Given the description of an element on the screen output the (x, y) to click on. 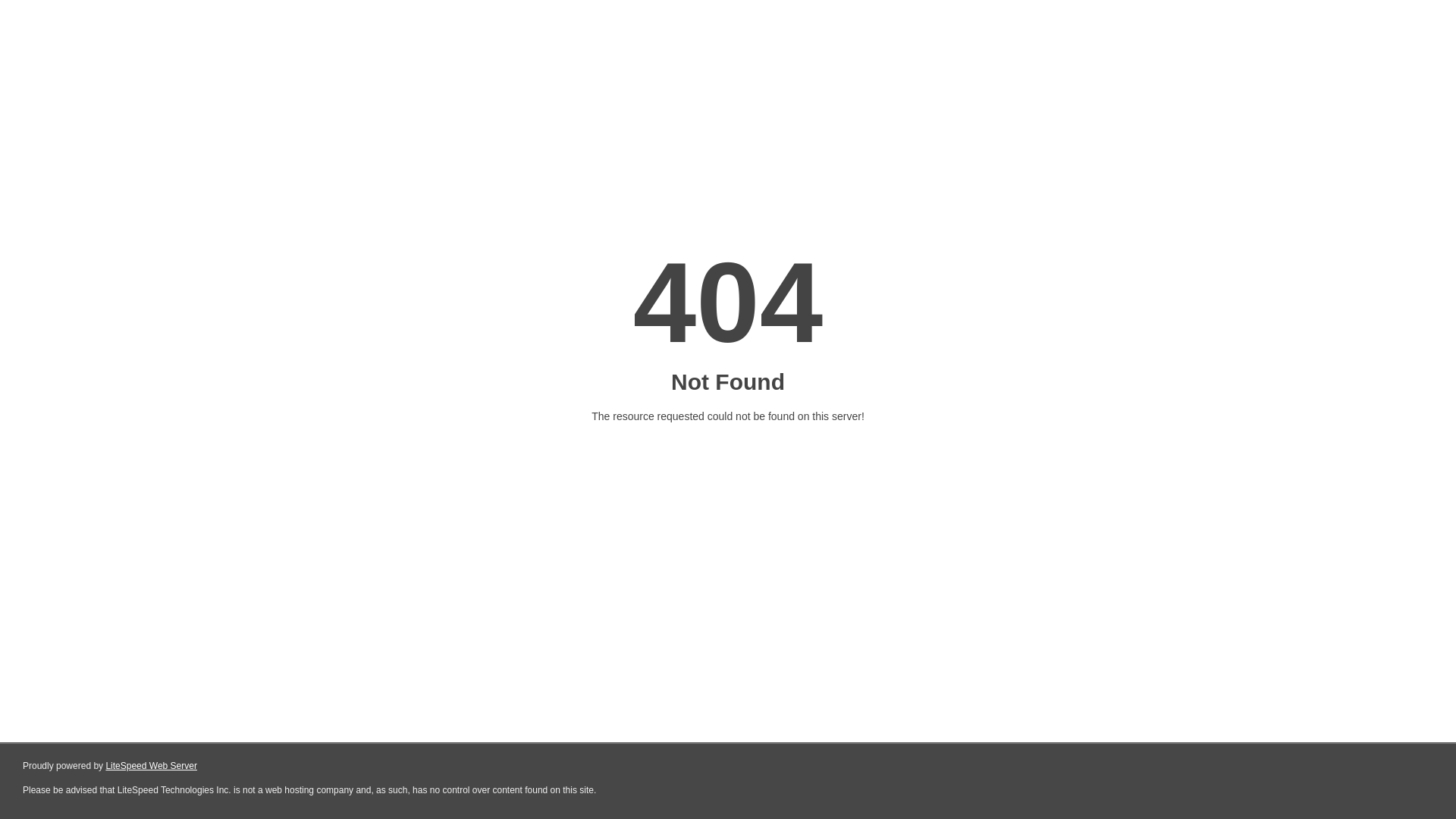
LiteSpeed Web Server Element type: text (151, 765)
